Given the description of an element on the screen output the (x, y) to click on. 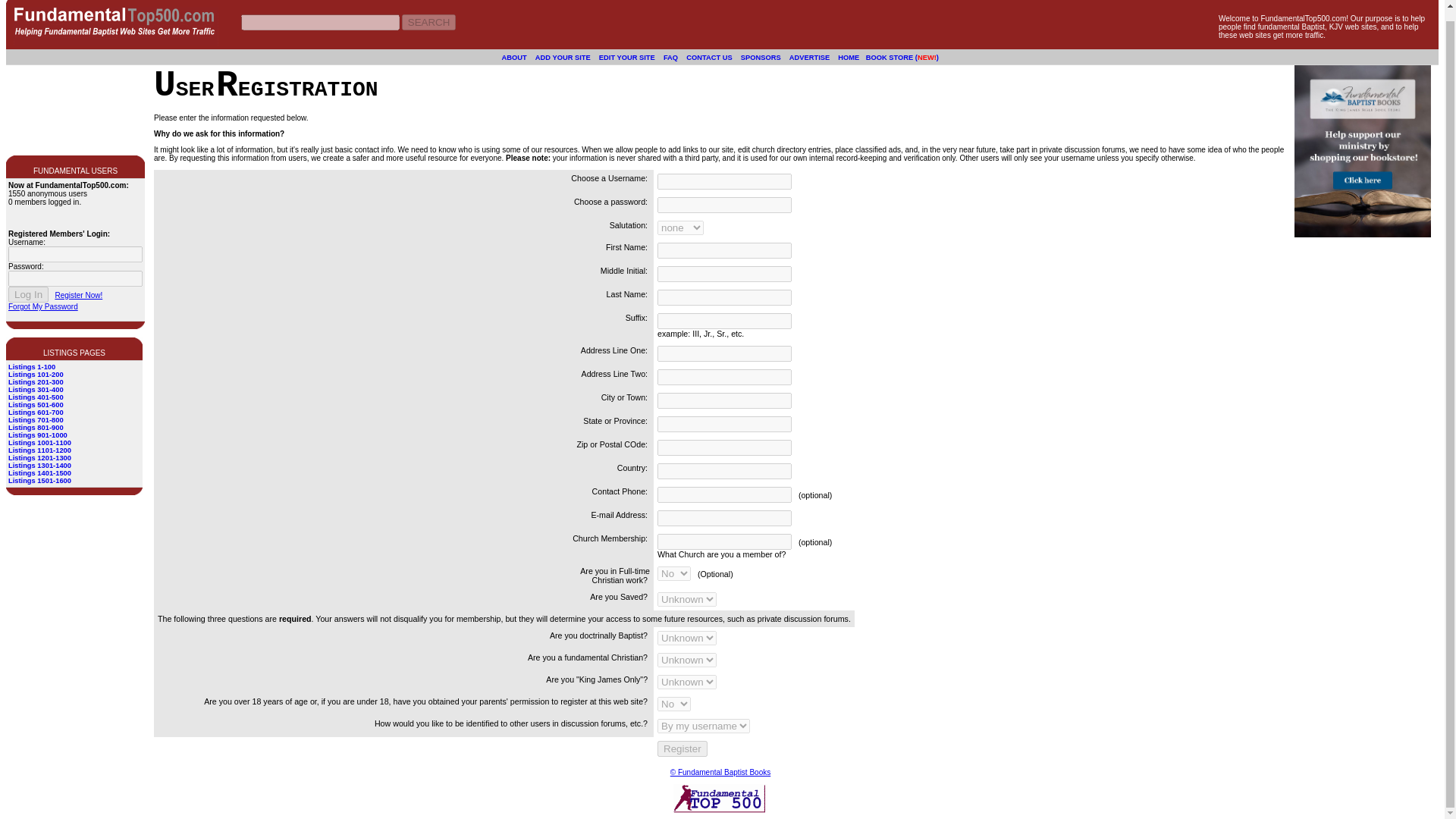
ADD YOUR SITE (563, 56)
Listings 601-700 (36, 412)
Listings 801-900 (36, 427)
FAQ (670, 56)
Listings 901-1000 (37, 434)
Listings 1501-1600 (39, 480)
Listings 1401-1500 (39, 472)
Listings 1301-1400 (39, 465)
Listings 301-400 (36, 389)
Listings 1101-1200 (39, 450)
